Given the description of an element on the screen output the (x, y) to click on. 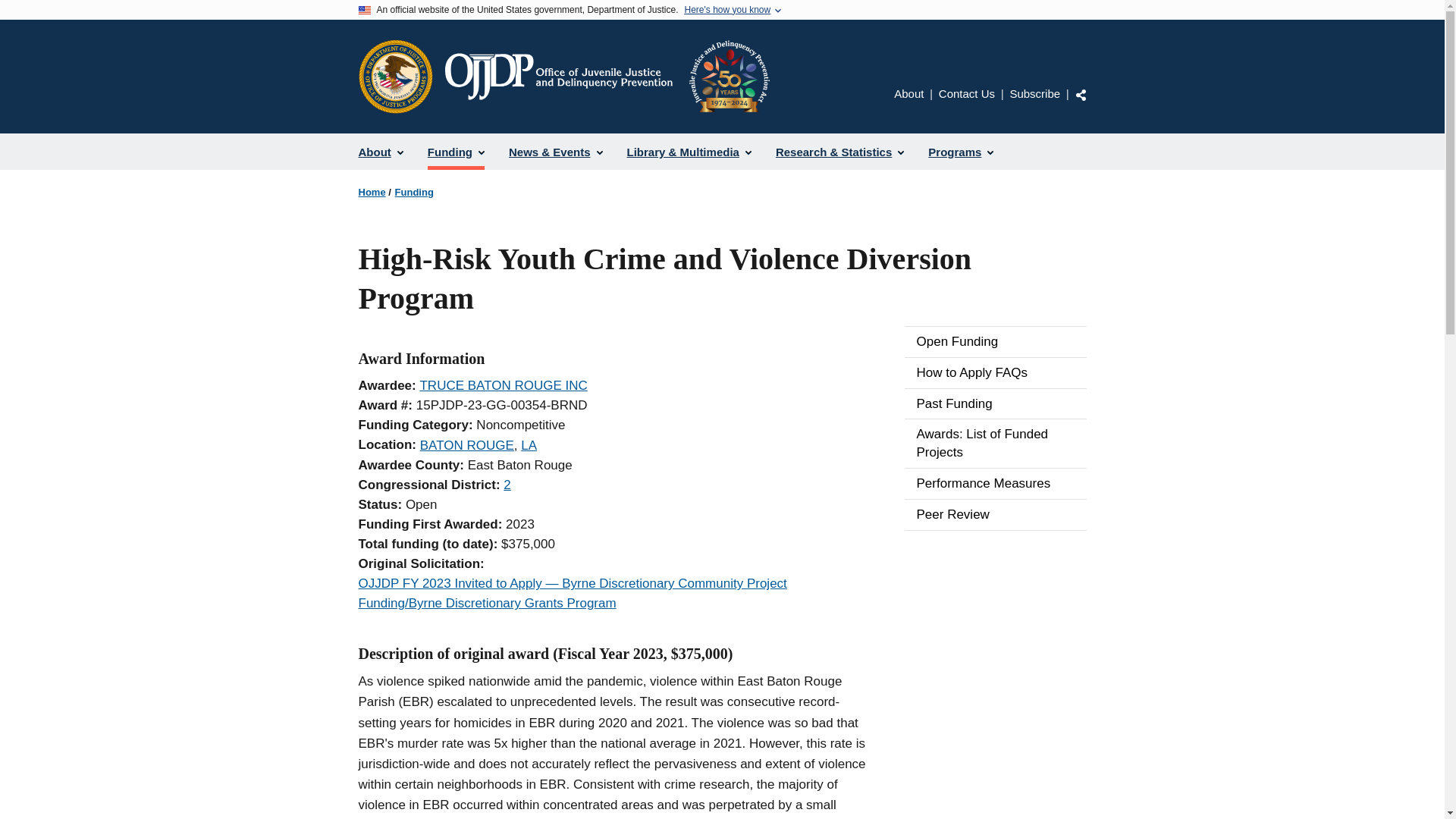
Funding (455, 151)
Office of Justice Programs (395, 76)
Peer Review (995, 514)
Choose a social sharing platform (1080, 94)
TRUCE BATON ROUGE INC (502, 385)
How to Apply FAQs (995, 372)
Performance Measures (995, 483)
Funding (413, 192)
Contact Us (966, 93)
Awards: List of Funded Projects (995, 443)
